Given the description of an element on the screen output the (x, y) to click on. 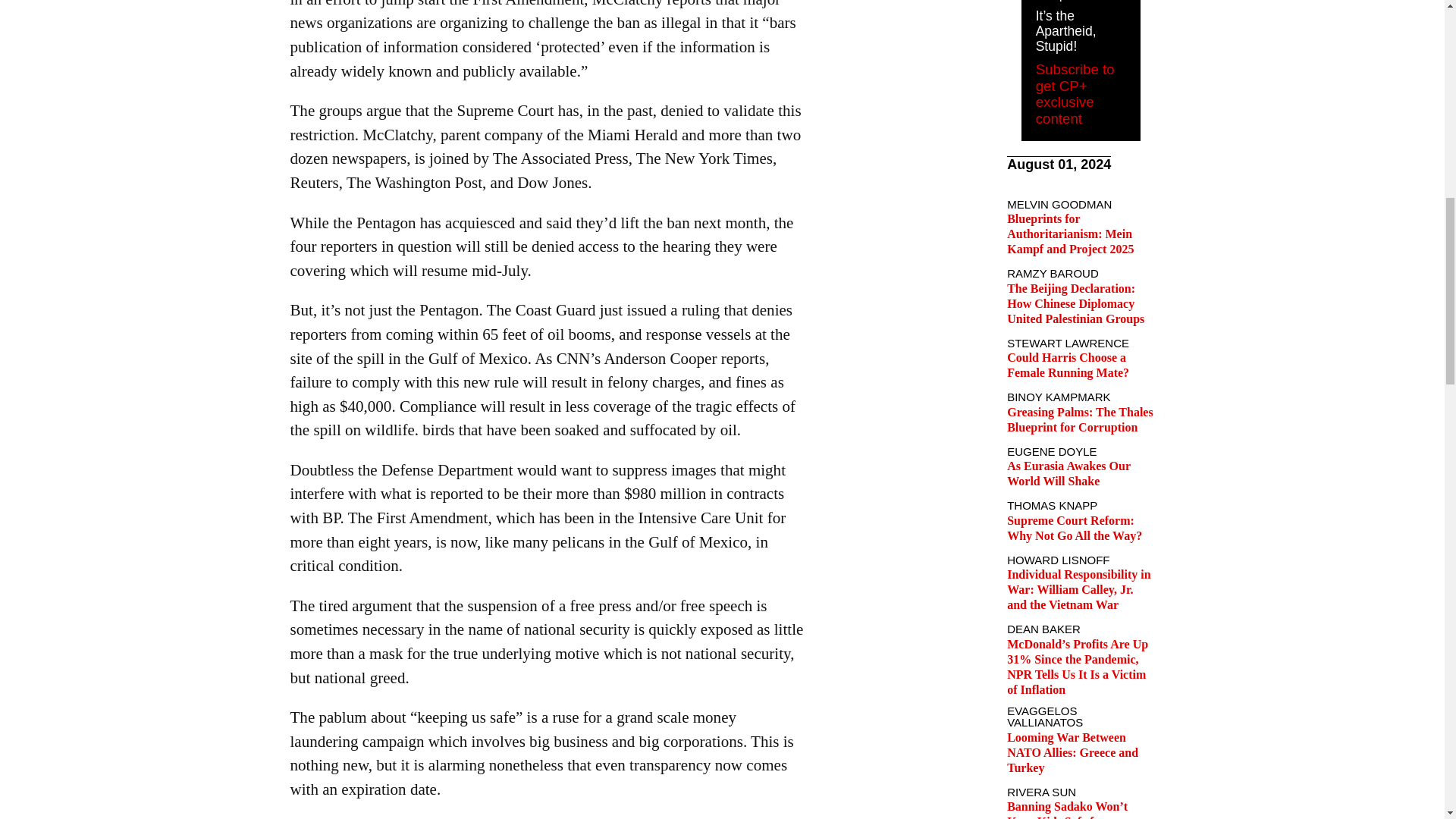
Blueprints for Authoritarianism: Mein Kampf and Project 2025 (1070, 233)
The US-Israeli Regime of Despair (1078, 1)
